Given the description of an element on the screen output the (x, y) to click on. 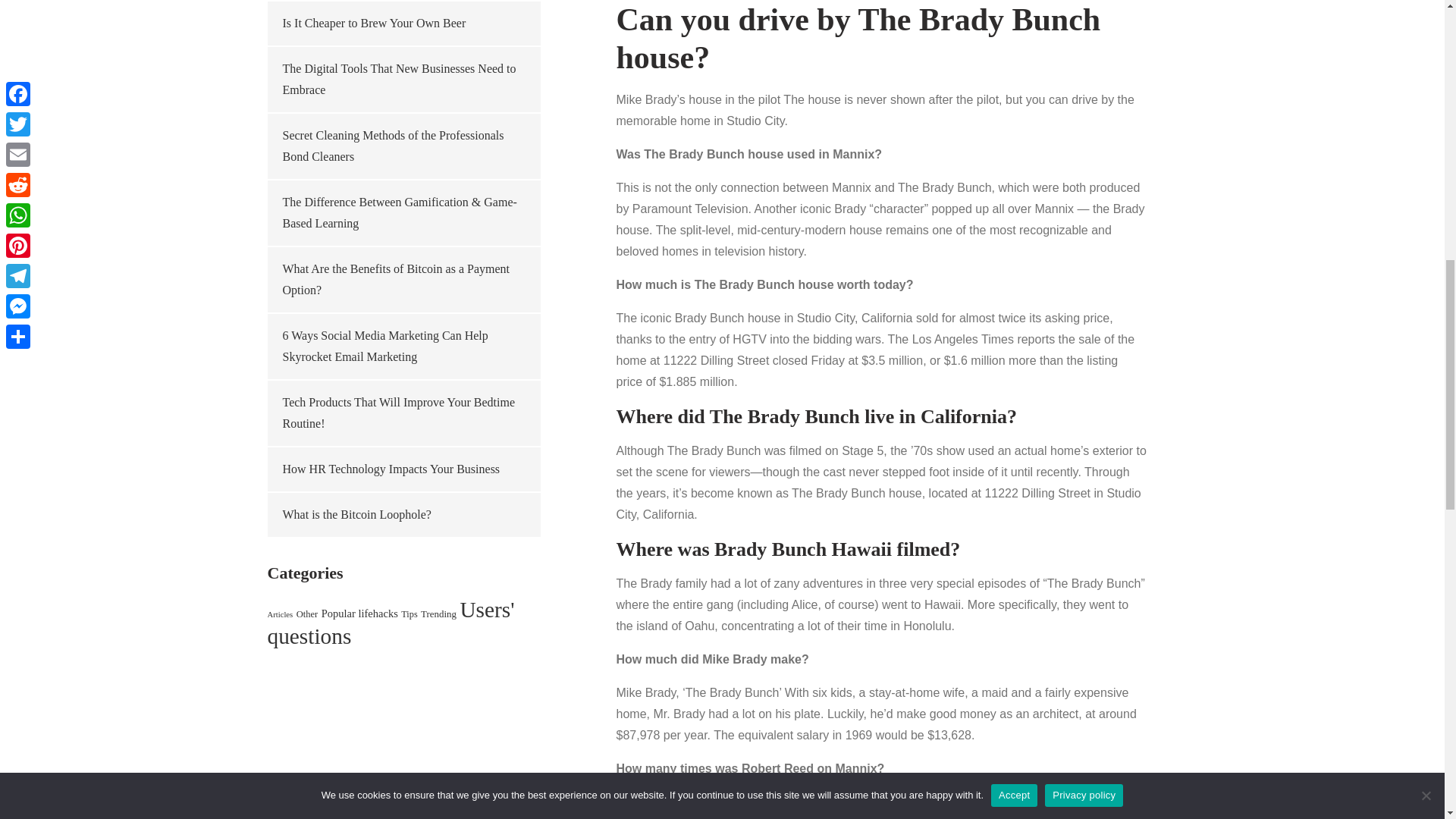
How HR Technology Impacts Your Business (390, 468)
Is It Cheaper to Brew Your Own Beer (373, 22)
The Digital Tools That New Businesses Need to Embrace (398, 79)
Secret Cleaning Methods of the Professionals Bond Cleaners (392, 145)
What is the Bitcoin Loophole? (356, 513)
Tech Products That Will Improve Your Bedtime Routine! (398, 412)
What Are the Benefits of Bitcoin as a Payment Option? (395, 279)
